Given the description of an element on the screen output the (x, y) to click on. 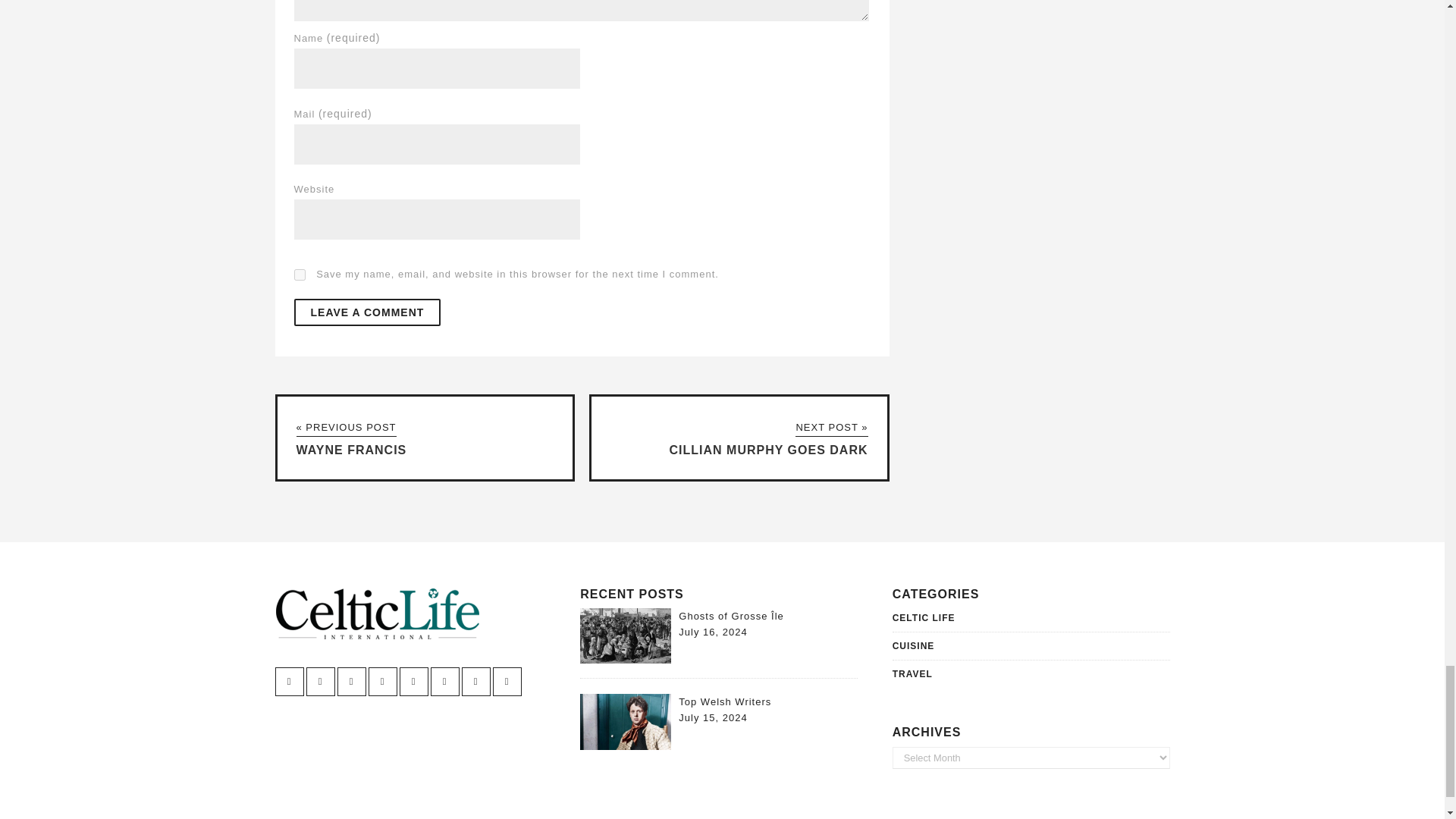
yes (299, 274)
Leave a Comment (367, 311)
